Given the description of an element on the screen output the (x, y) to click on. 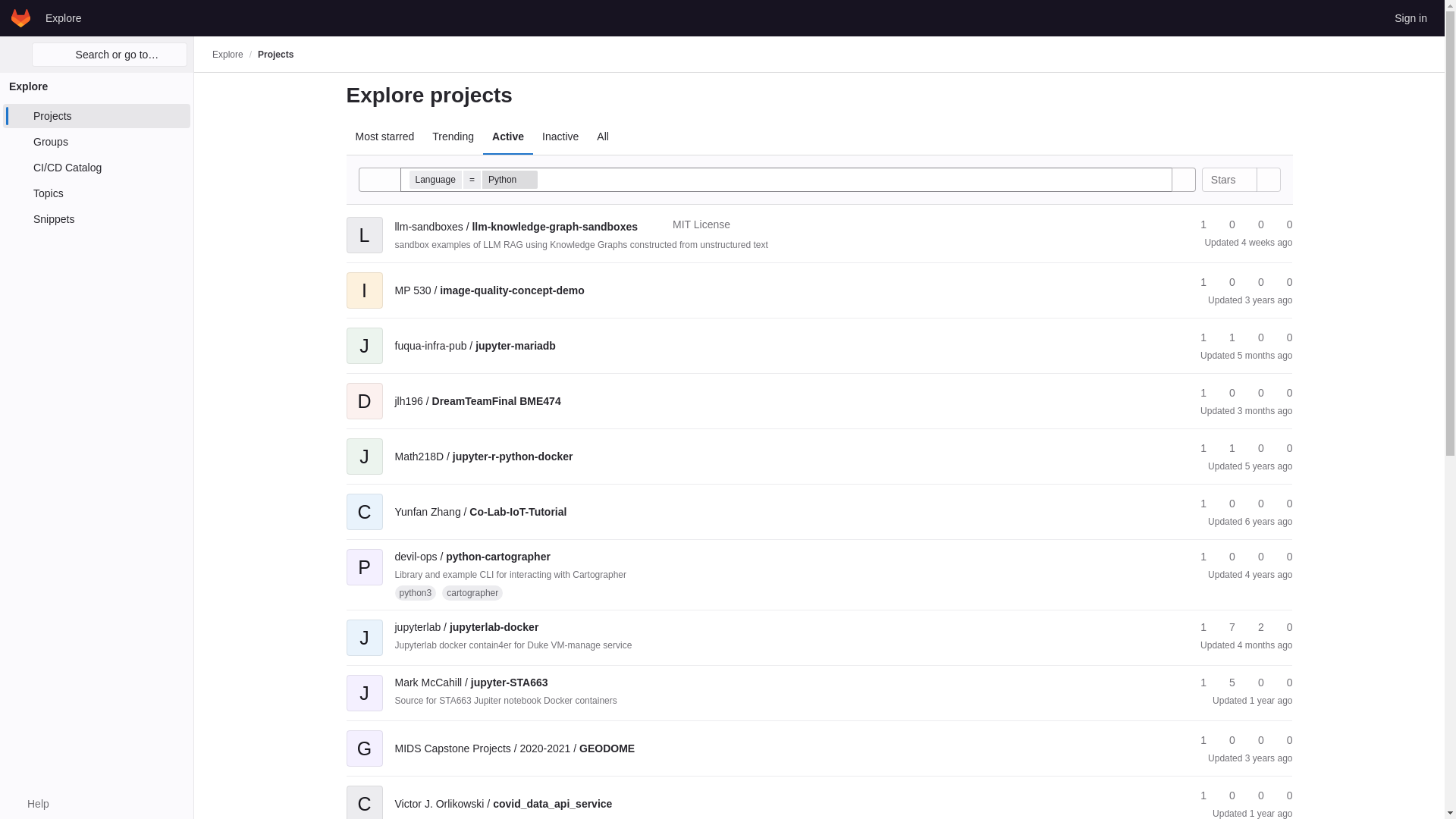
Topics (96, 192)
Toggle history (379, 179)
Forks (1224, 282)
L (363, 224)
Sign in (1410, 17)
Help (30, 803)
llm-knowledge-graph-sandboxes (515, 226)
Most starred (384, 135)
Homepage (20, 17)
Active (507, 135)
